Given the description of an element on the screen output the (x, y) to click on. 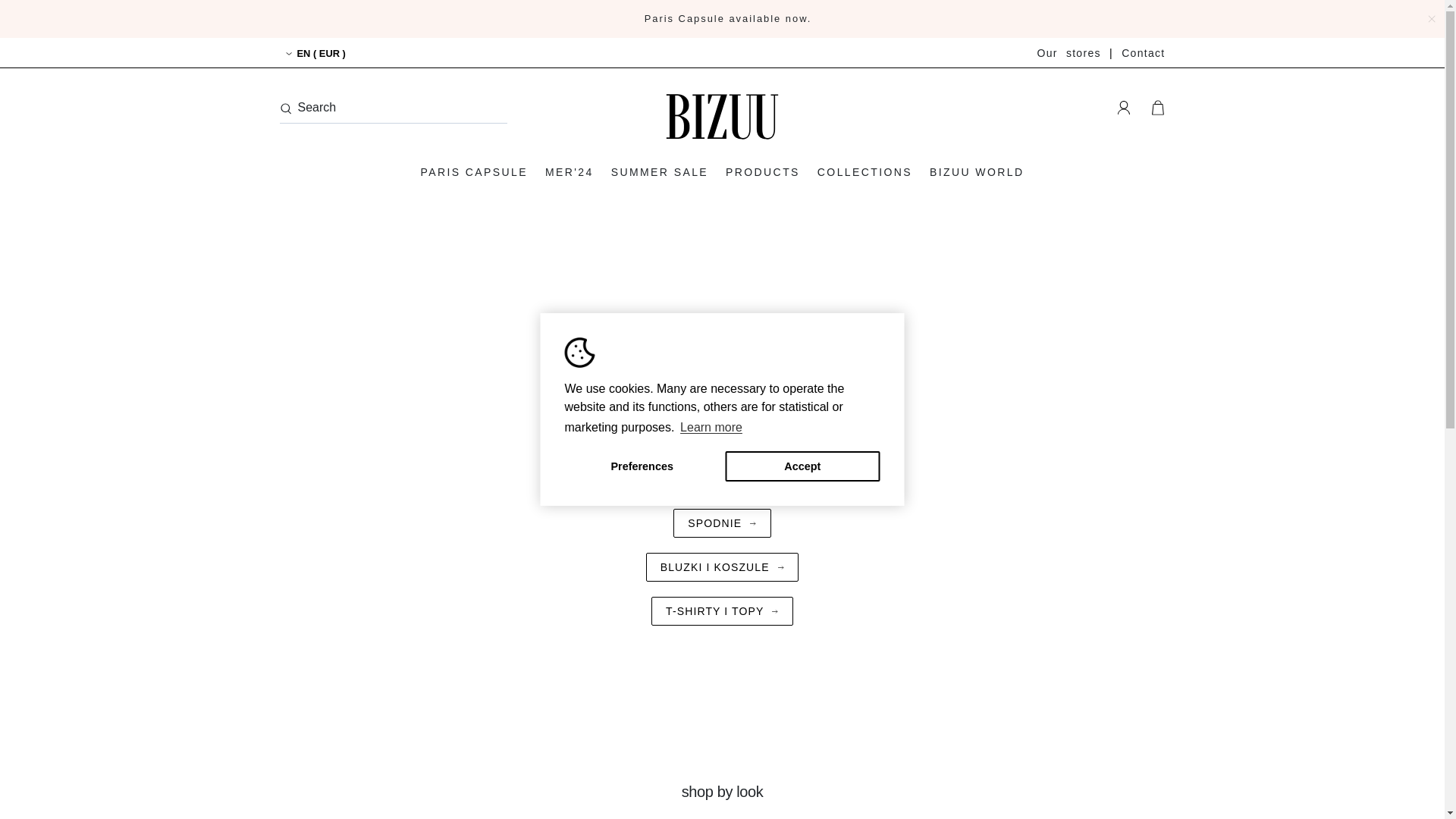
PARIS CAPSULE (728, 18)
Contact (1142, 52)
Paris Capsule available now. (728, 18)
PARIS CAPSULE (473, 171)
Preferences (641, 466)
Log in (1123, 107)
Learn more (711, 427)
Cart (1157, 107)
SUMMER SALE (659, 171)
MER'24 (568, 171)
Contact (1142, 52)
PARIS CAPSULE (473, 171)
Accept (802, 466)
Our stores (1068, 52)
Our stores (1068, 52)
